Given the description of an element on the screen output the (x, y) to click on. 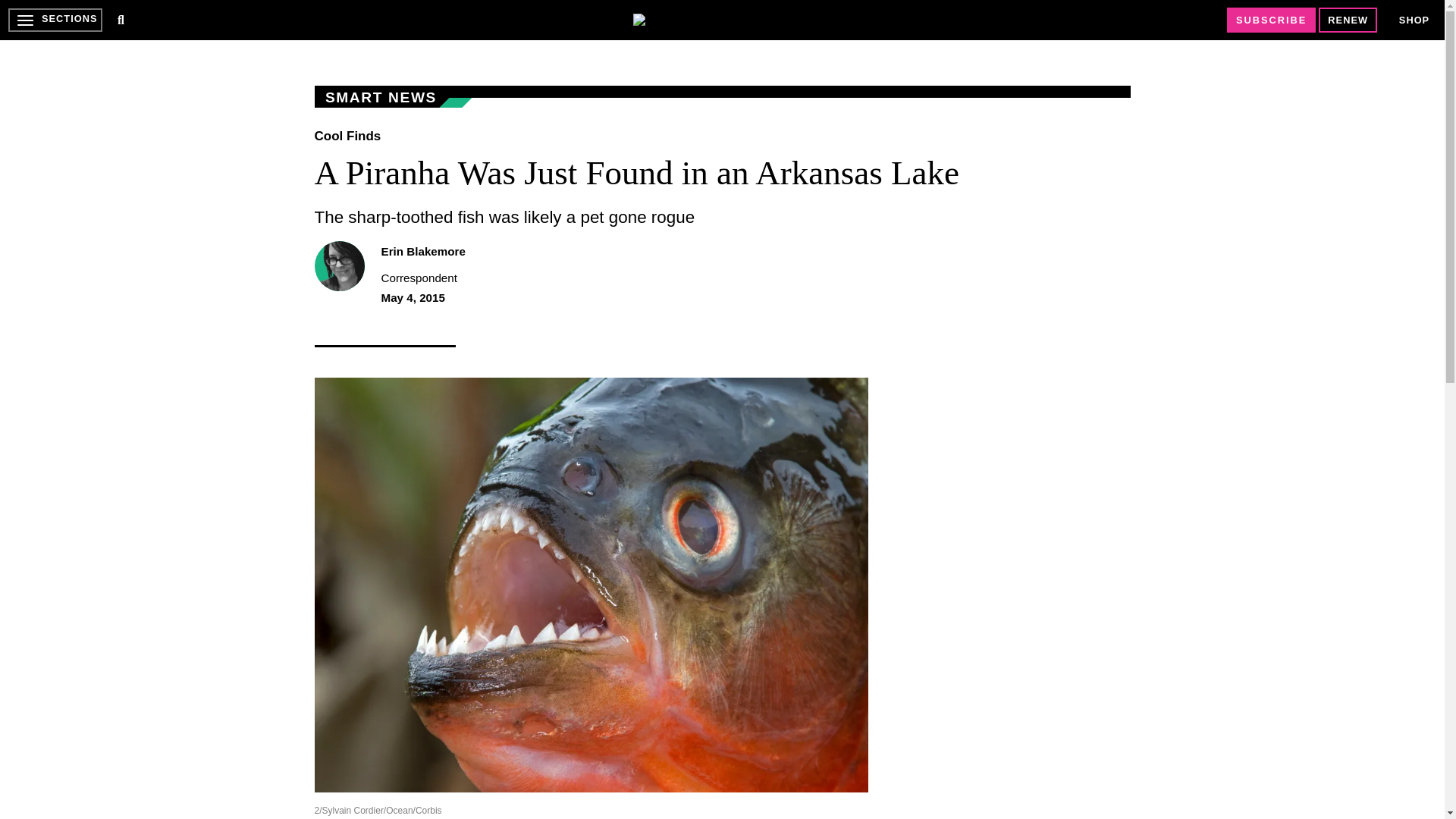
SHOP (1413, 19)
SUBSCRIBE (1271, 19)
RENEW (1347, 19)
SECTIONS (55, 19)
SHOP (1414, 19)
SUBSCRIBE (1271, 19)
RENEW (1348, 19)
